Given the description of an element on the screen output the (x, y) to click on. 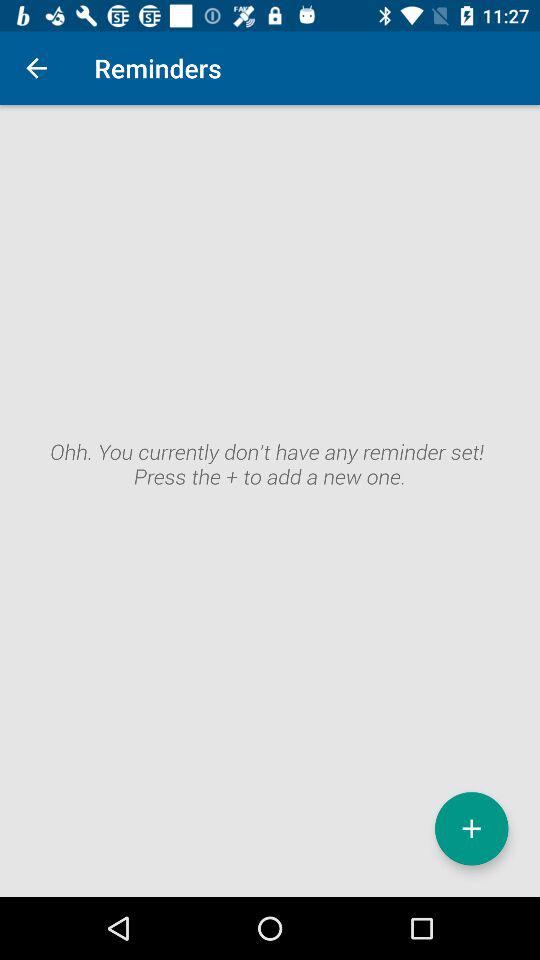
choose the icon next to reminders (36, 68)
